Given the description of an element on the screen output the (x, y) to click on. 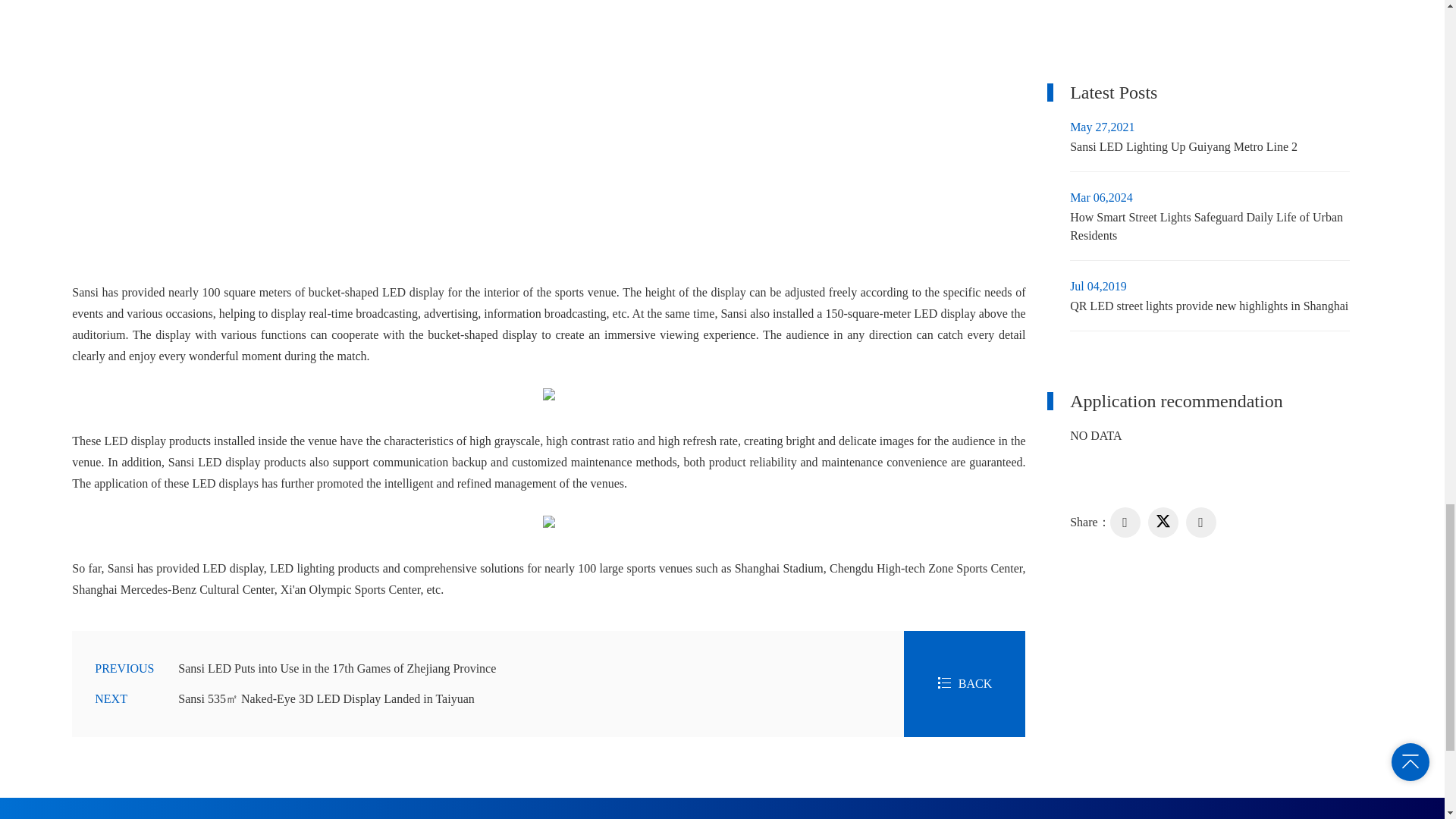
BACK (964, 683)
